Given the description of an element on the screen output the (x, y) to click on. 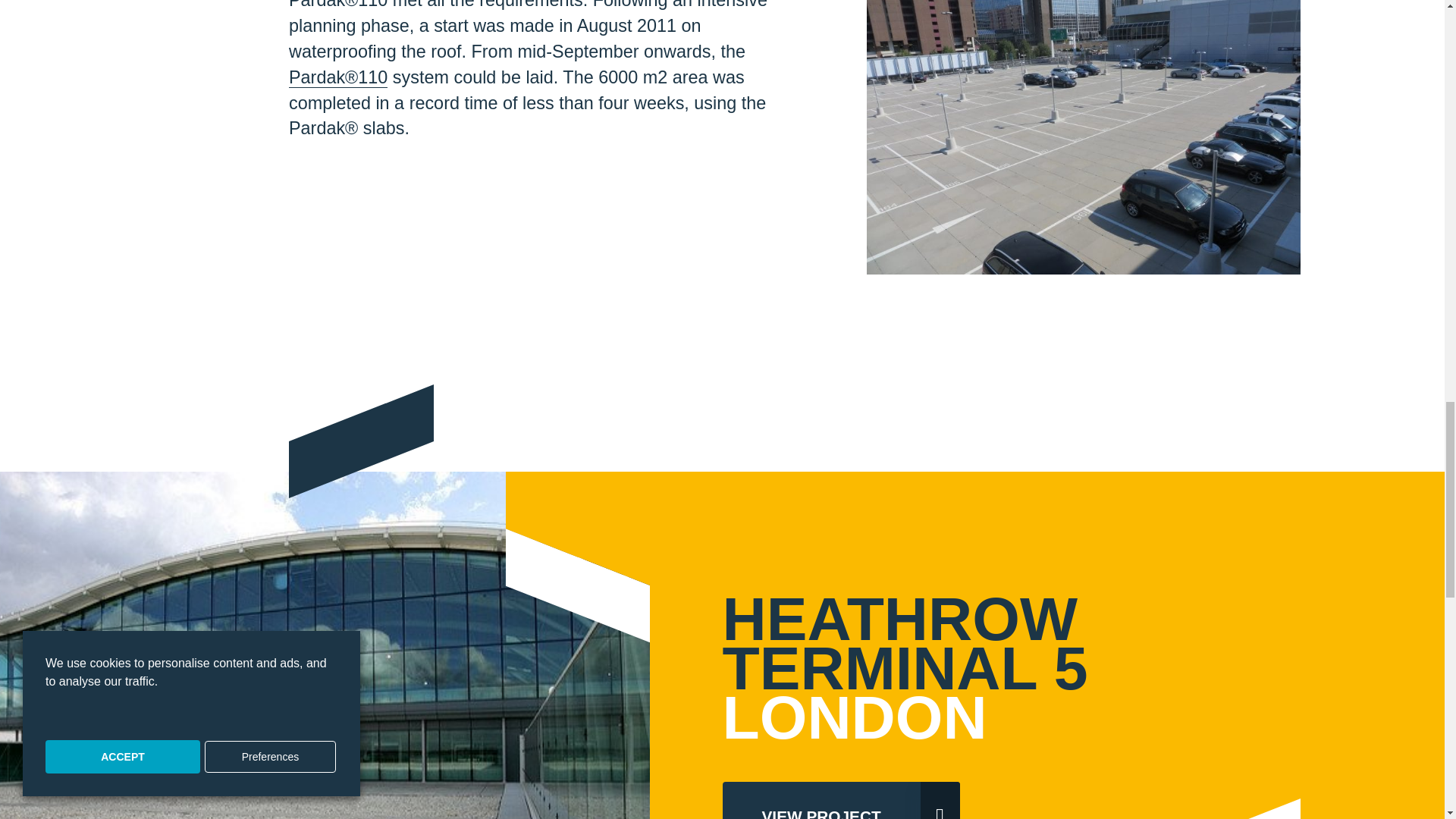
View Project (840, 800)
